Given the description of an element on the screen output the (x, y) to click on. 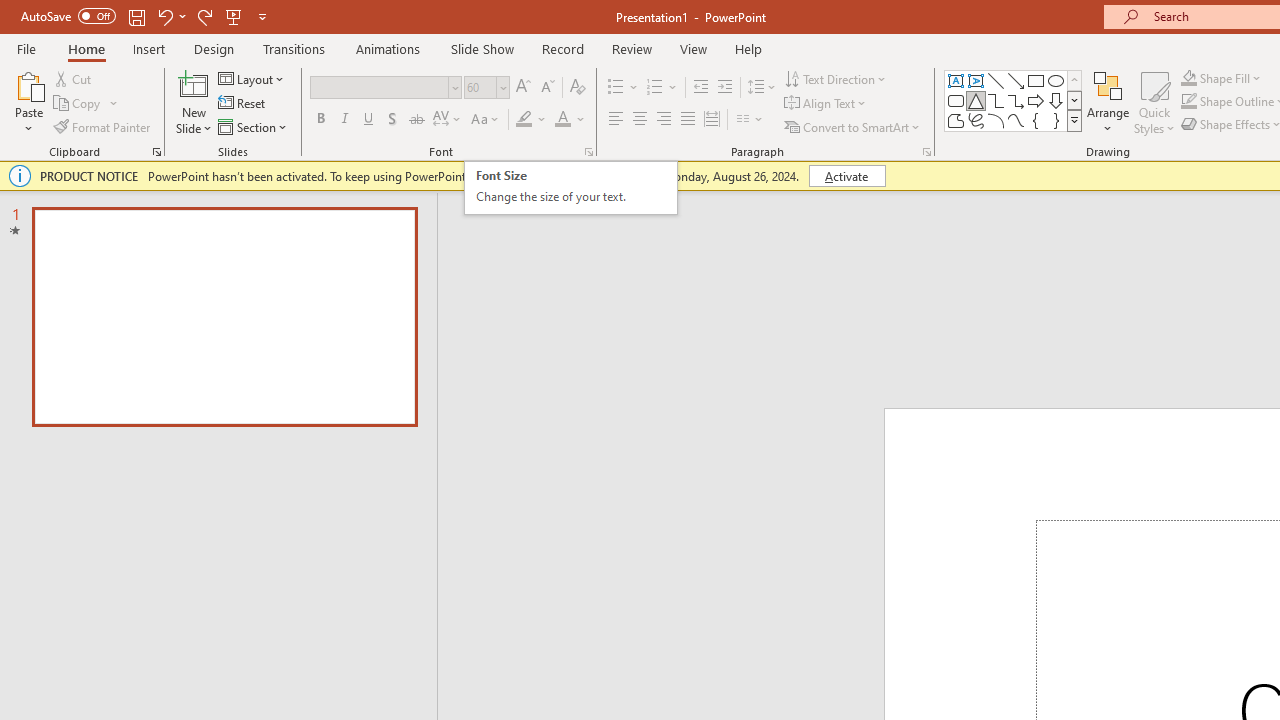
Activate (846, 175)
